Given the description of an element on the screen output the (x, y) to click on. 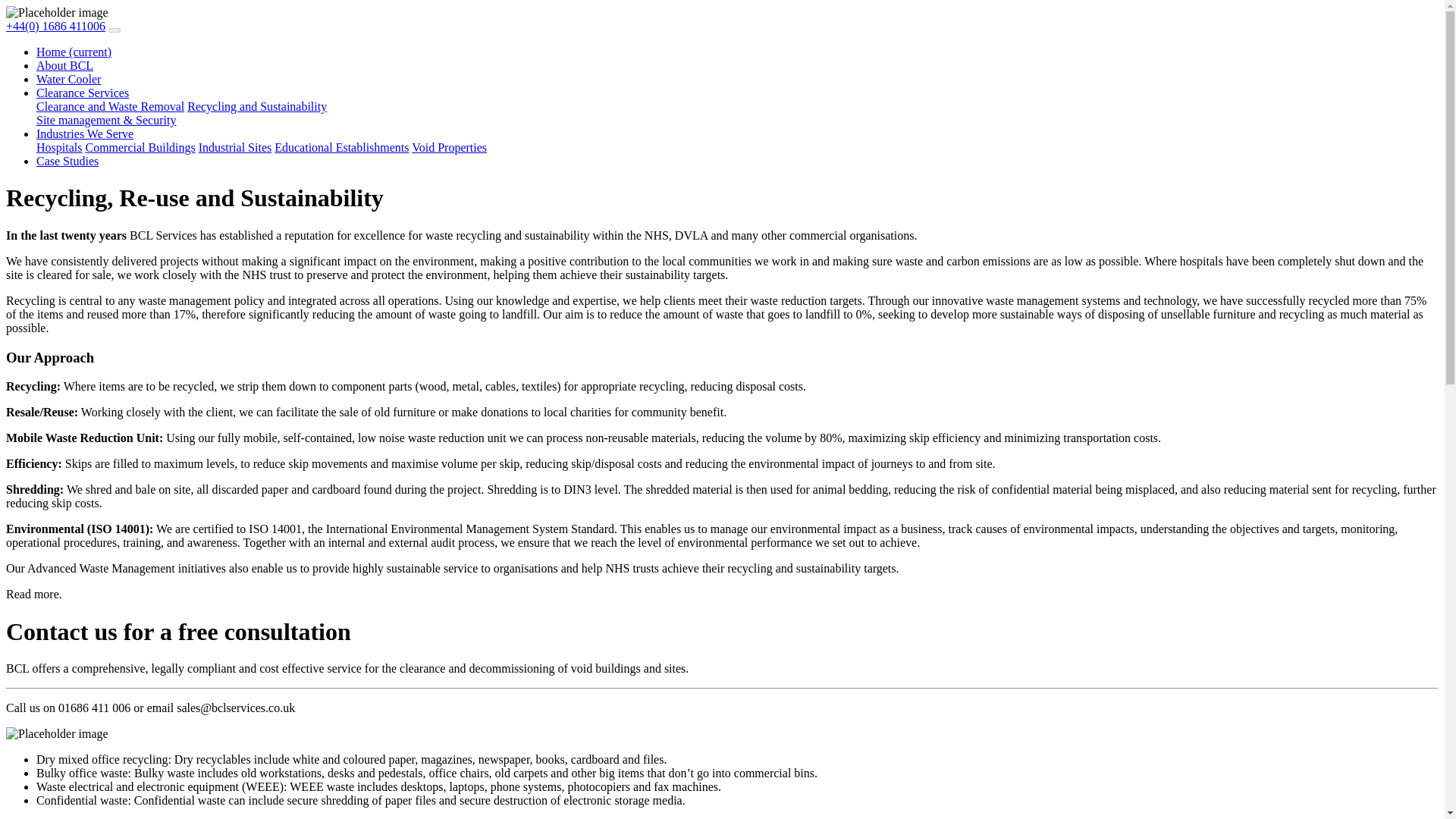
Industries We Serve (84, 133)
Industrial Sites (234, 146)
Commercial Buildings (139, 146)
Educational Establishments (342, 146)
Recycling and Sustainability (256, 106)
Water Cooler (68, 78)
About BCL (64, 65)
Clearance and Waste Removal (110, 106)
Void Properties (449, 146)
Clearance Services (82, 92)
